Given the description of an element on the screen output the (x, y) to click on. 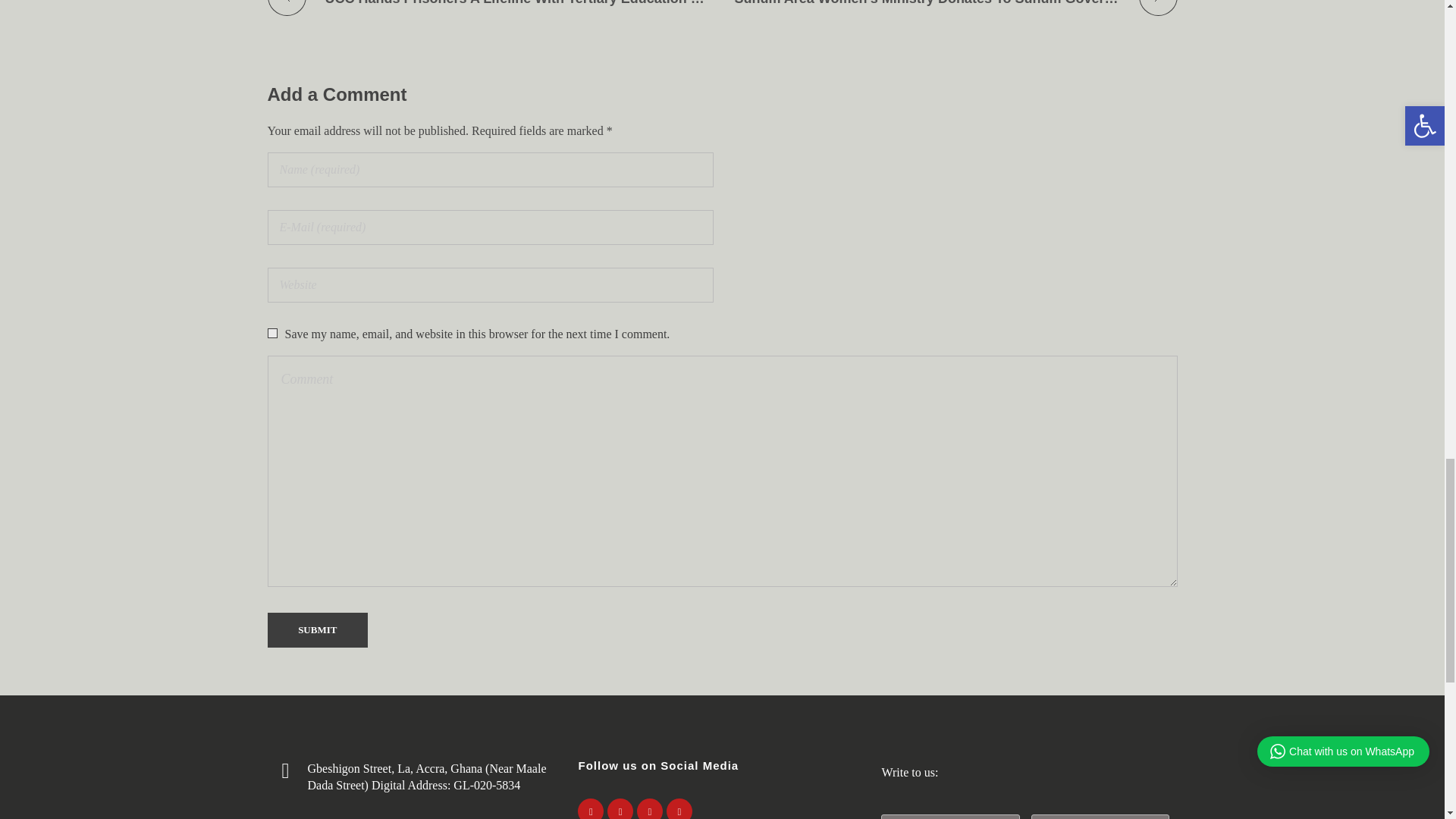
yes (271, 333)
Submit (317, 629)
